Given the description of an element on the screen output the (x, y) to click on. 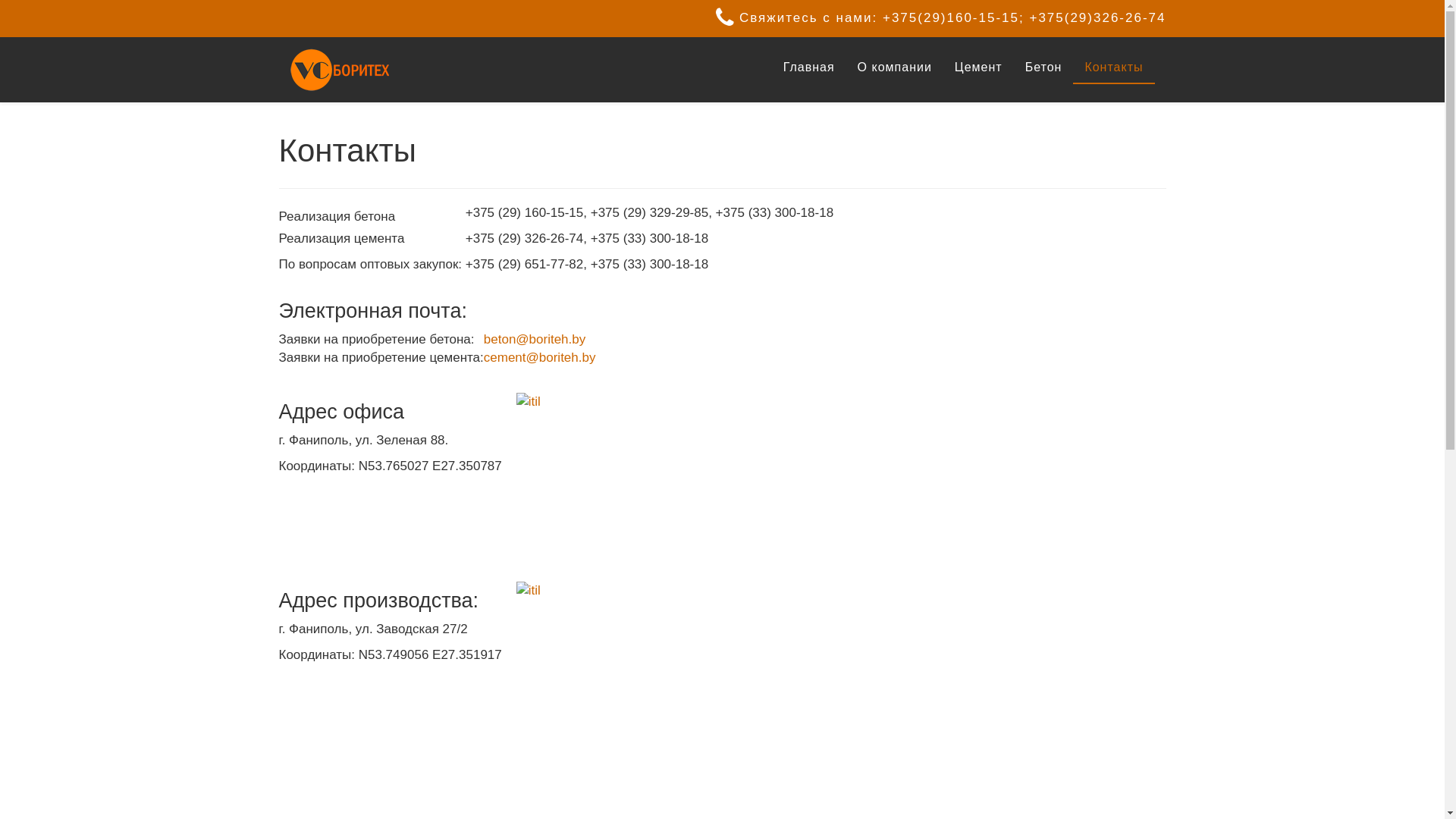
cement@boriteh.by Element type: text (539, 357)
beton@boriteh.by Element type: text (534, 339)
